Given the description of an element on the screen output the (x, y) to click on. 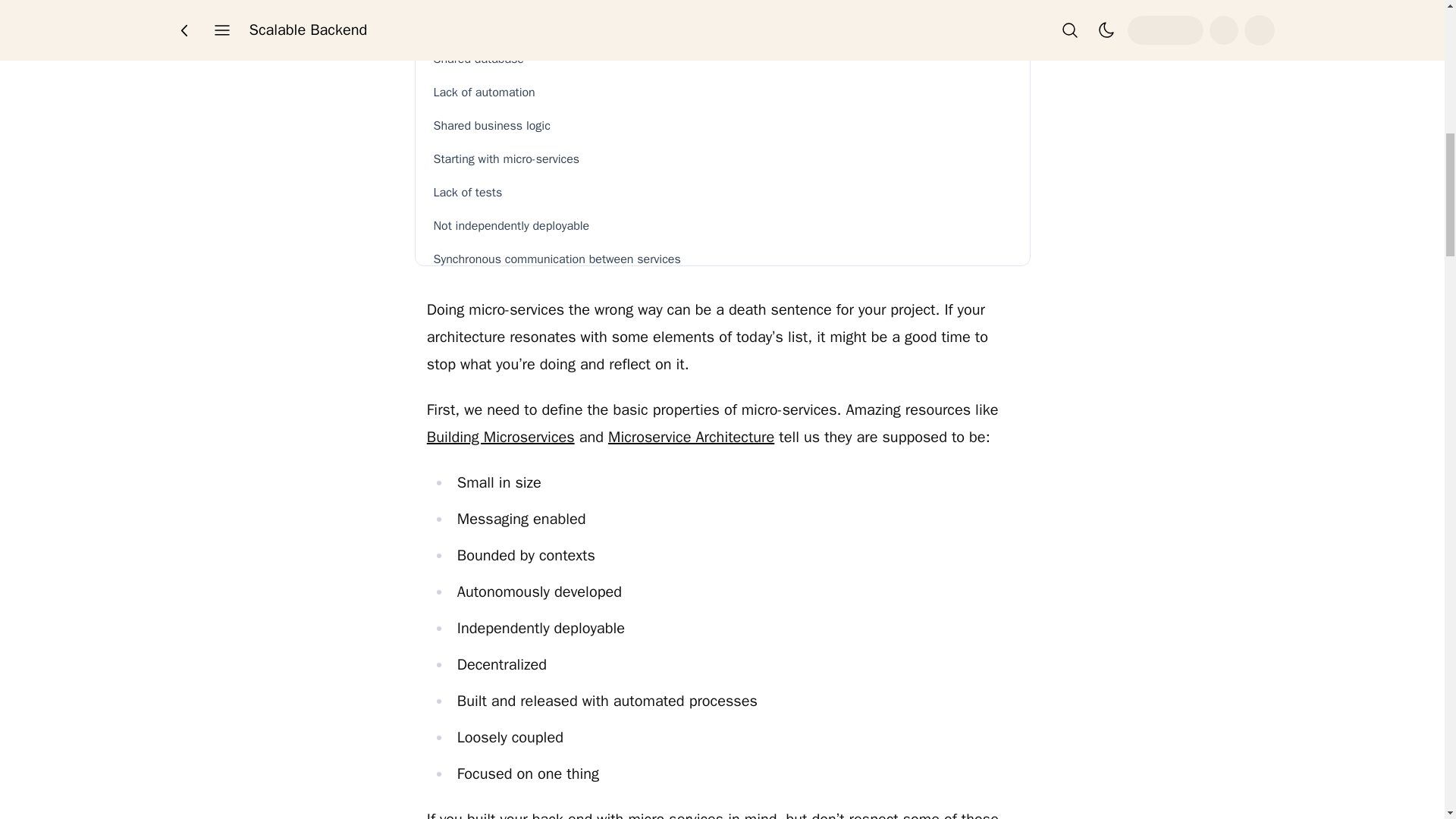
Building Microservices (500, 436)
Lack of tests (722, 192)
Microservice Architecture (691, 436)
Shared business logic (722, 125)
Starting with micro-services (722, 159)
Distributed monolith (722, 25)
Synchronous communication between services (722, 259)
Lack of automation (722, 91)
Shared database (722, 59)
Not independently deployable (722, 225)
